Given the description of an element on the screen output the (x, y) to click on. 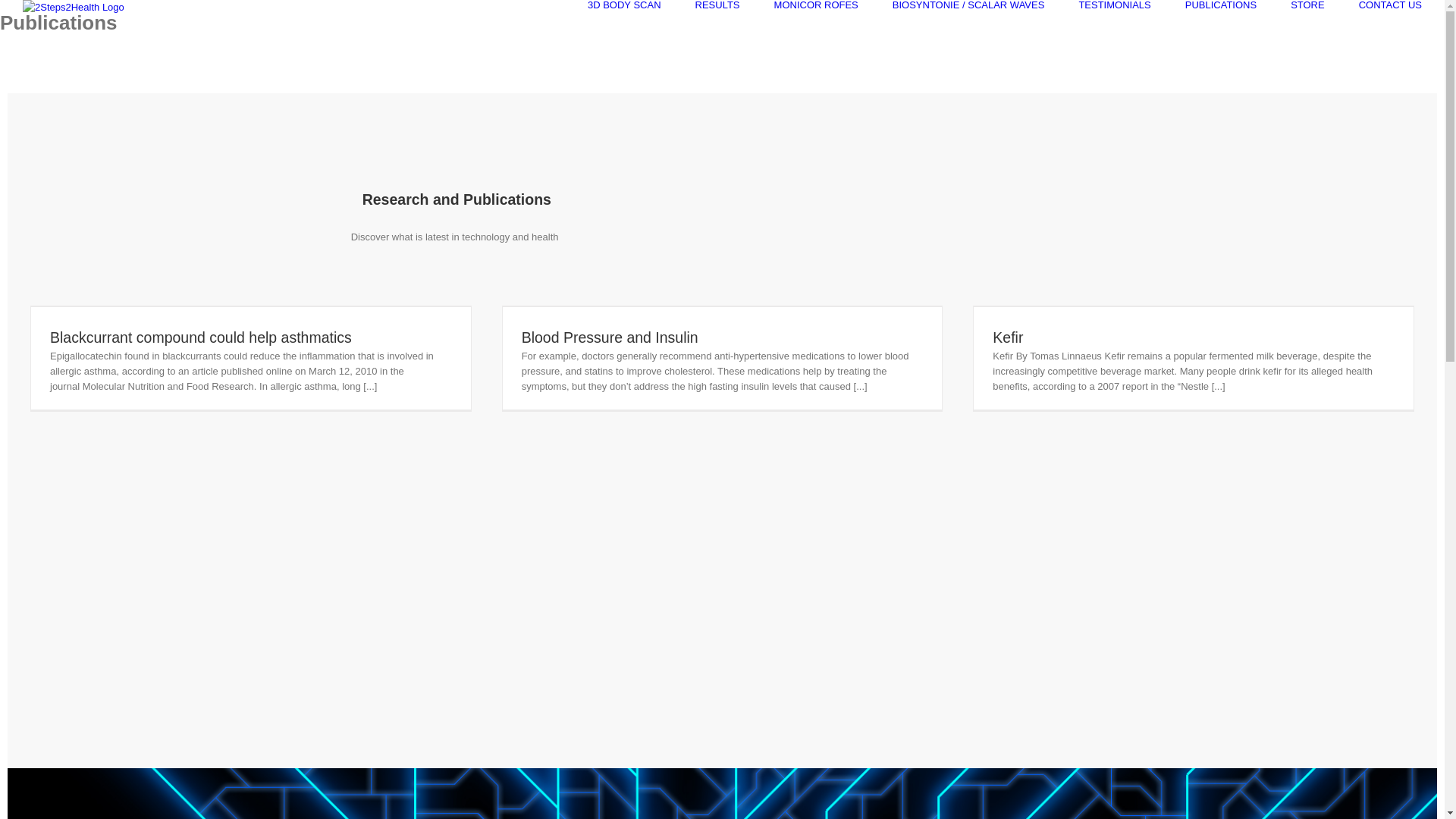
BIOSYNTONIE / SCALAR WAVES Element type: text (968, 4)
PUBLICATIONS Element type: text (1220, 4)
TESTIMONIALS Element type: text (1114, 4)
STORE Element type: text (1307, 4)
3D BODY SCAN Element type: text (624, 4)
MONICOR ROFES Element type: text (816, 4)
Kefir Element type: text (1007, 337)
Blackcurrant compound could help asthmatics Element type: text (200, 337)
Blood Pressure and Insulin Element type: text (609, 337)
CONTACT US Element type: text (1389, 4)
RESULTS Element type: text (717, 4)
